Given the description of an element on the screen output the (x, y) to click on. 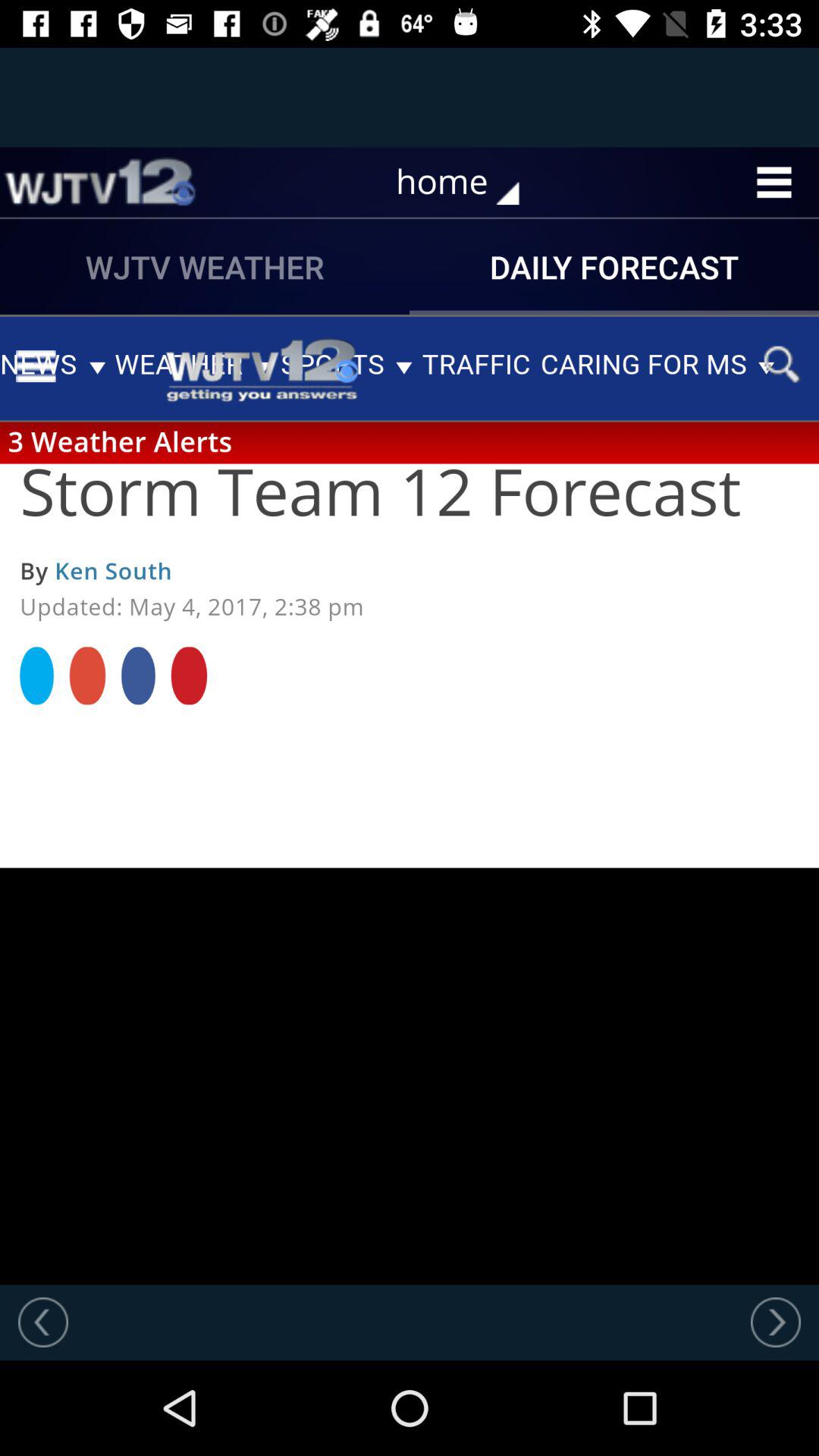
next field (775, 1322)
